Given the description of an element on the screen output the (x, y) to click on. 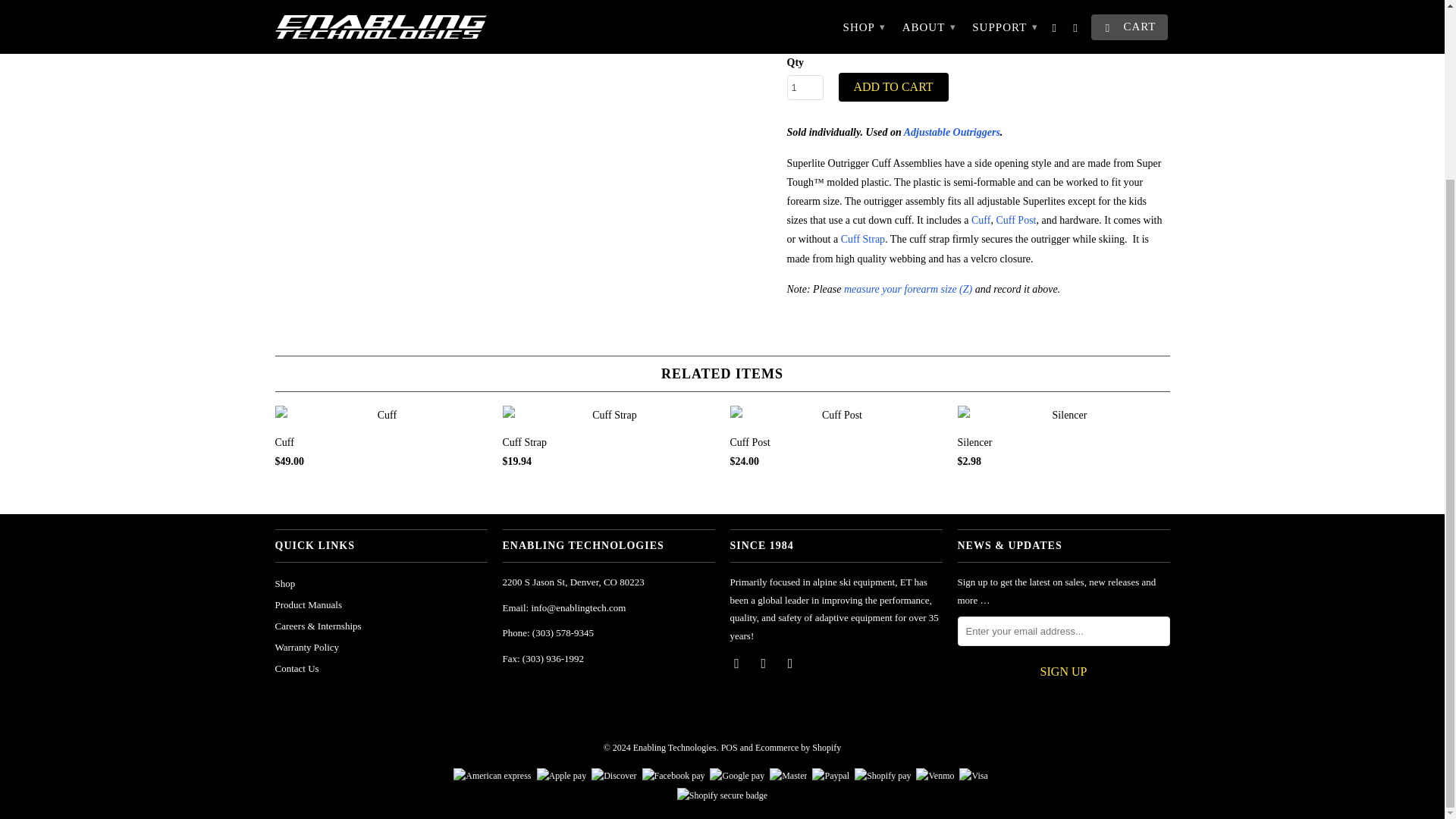
Warranty Policy (307, 646)
This online store is secured by Shopify (722, 795)
Shop (285, 583)
Sign Up (1062, 671)
Enabling Technologies on YouTube (765, 662)
Contact Us (296, 668)
Enabling Technologies on Facebook (737, 662)
Enabling Technologies on Instagram (791, 662)
Product Manuals (307, 604)
1 (805, 87)
